Given the description of an element on the screen output the (x, y) to click on. 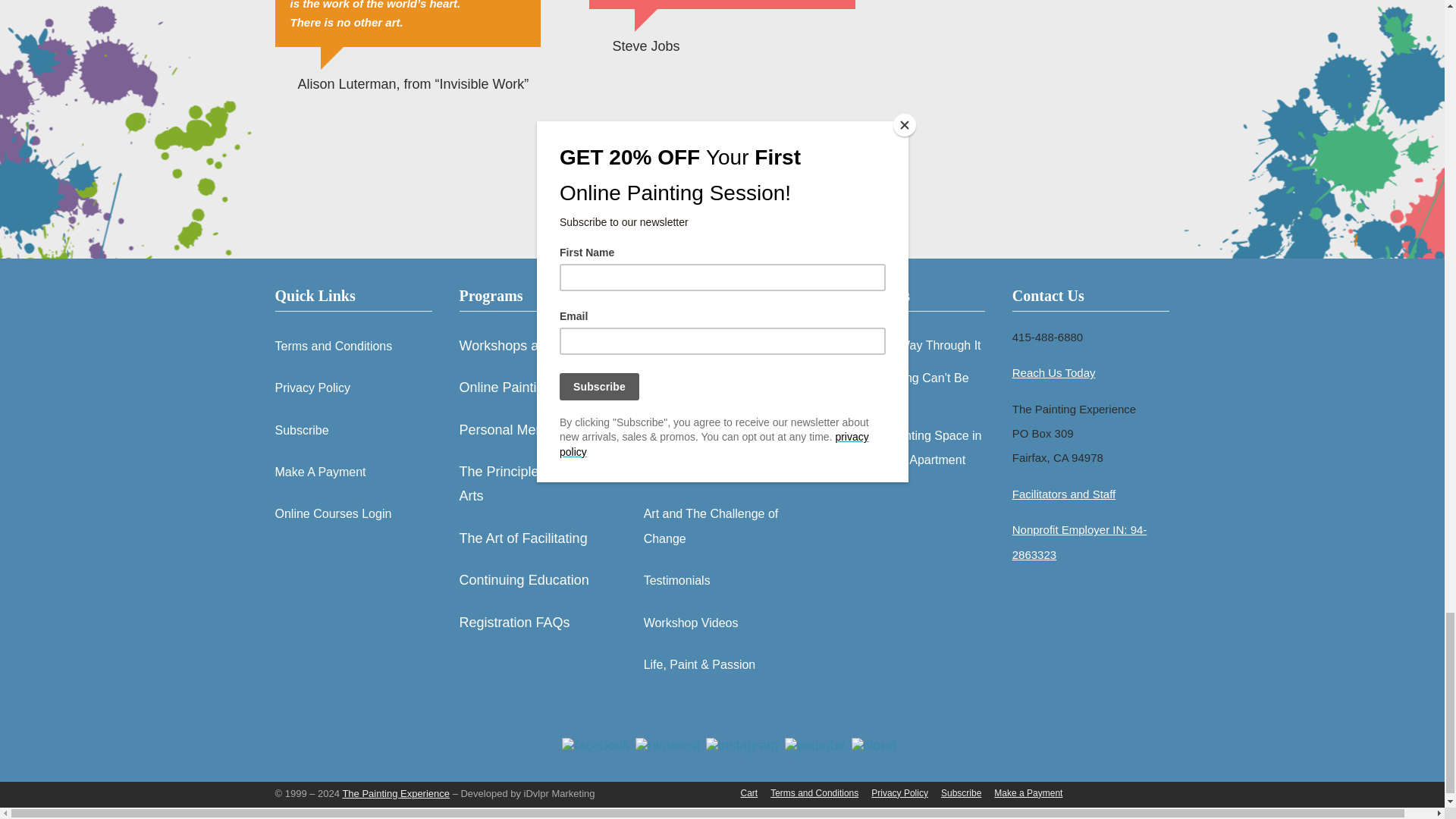
facebook (595, 744)
pinterest (667, 745)
facebook (595, 745)
instagram (741, 745)
youtube (814, 744)
pinterest (667, 744)
instagram (741, 744)
